Given the description of an element on the screen output the (x, y) to click on. 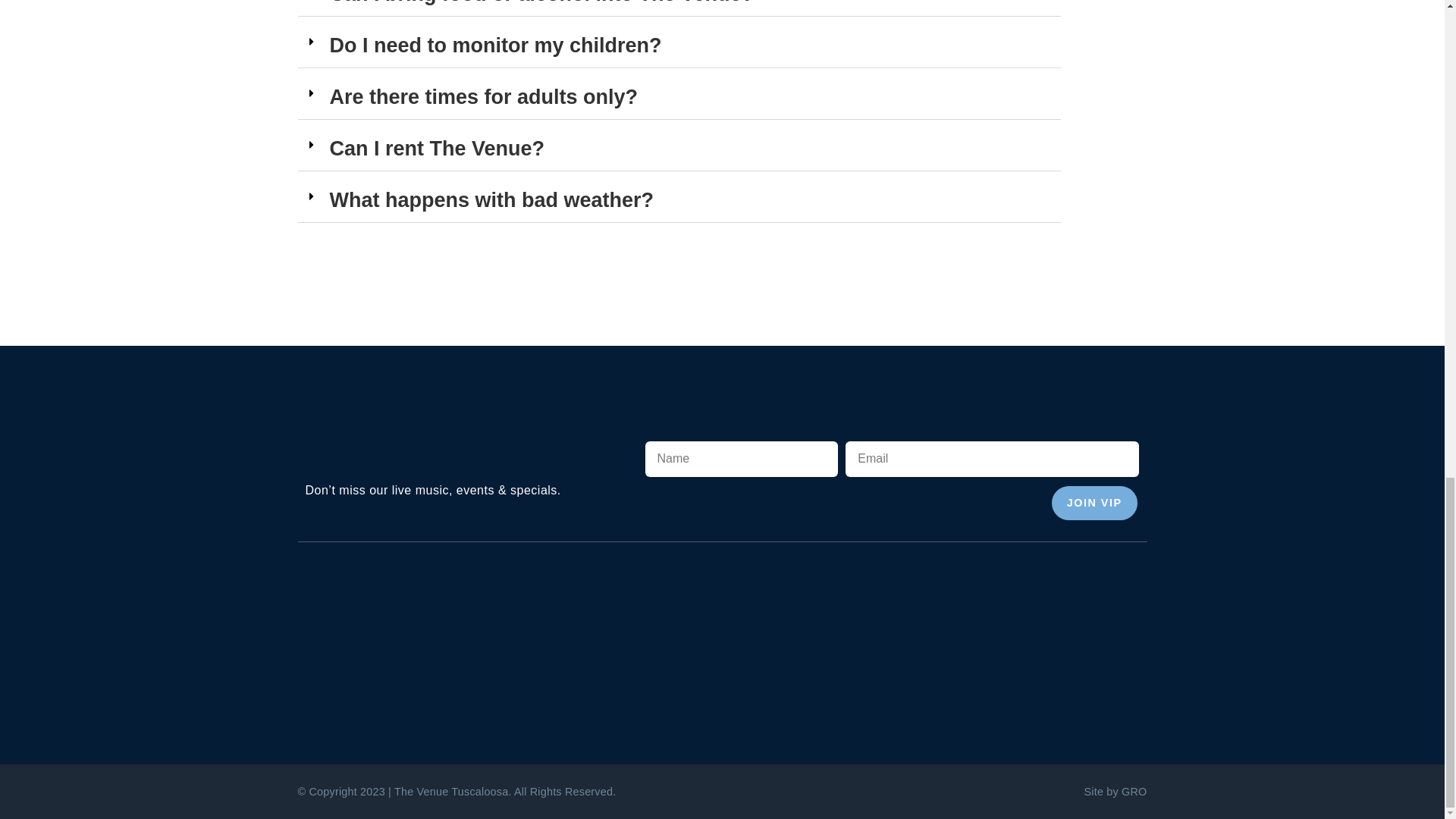
Do I need to monitor my children? (495, 45)
What happens with bad weather? (491, 200)
Can I rent The Venue? (436, 148)
Are there times for adults only? (483, 96)
Can I bring food or alcohol into The Venue? (541, 2)
JOIN VIP (1094, 502)
